Given the description of an element on the screen output the (x, y) to click on. 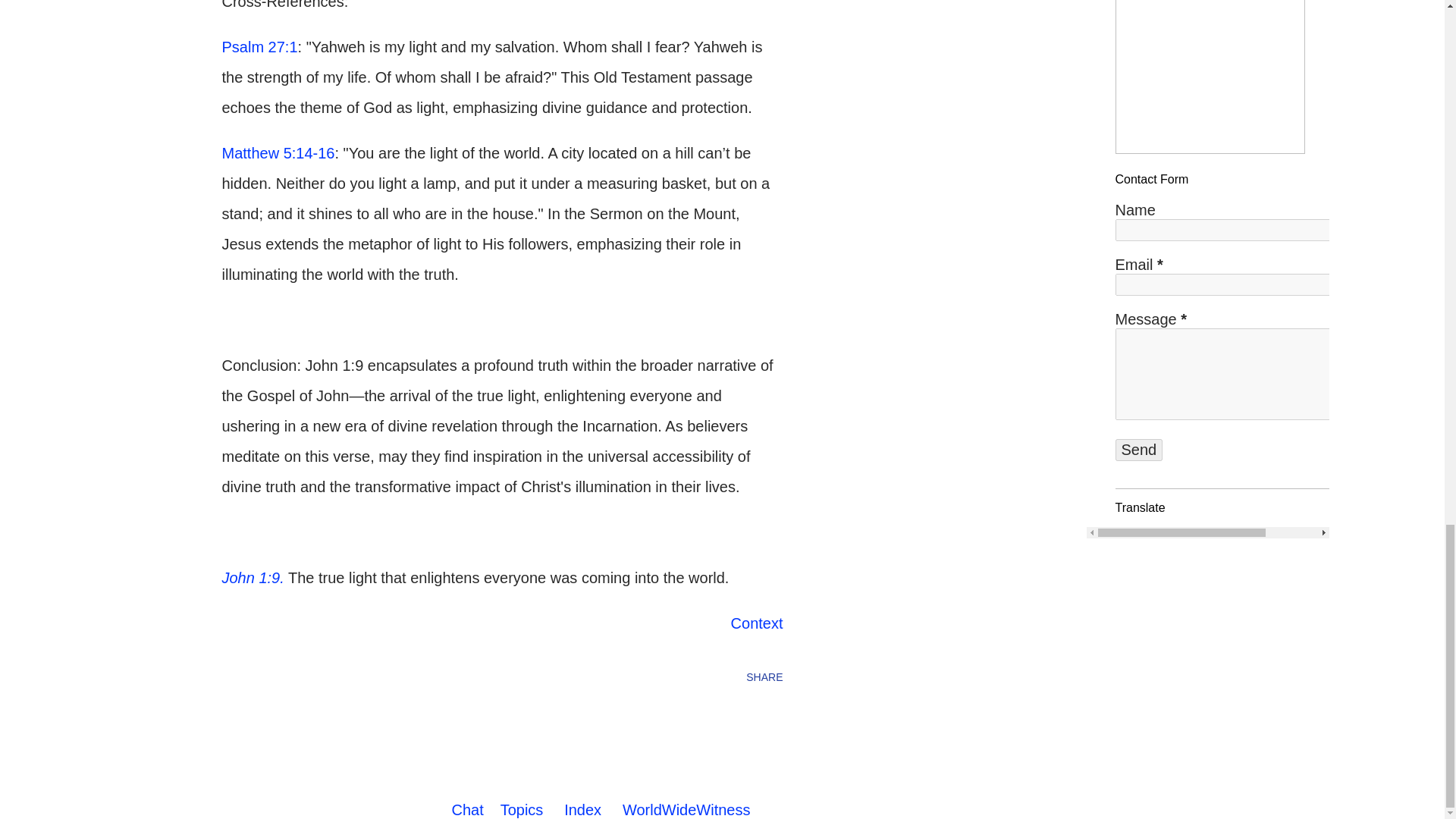
Index (582, 809)
WorldWideWitness (687, 809)
Psalm 27:1 (259, 46)
Email Post (230, 676)
Topics (521, 809)
Send (1138, 449)
Chat (467, 809)
SHARE (764, 677)
Context (756, 623)
John 1:9. (252, 577)
